Given the description of an element on the screen output the (x, y) to click on. 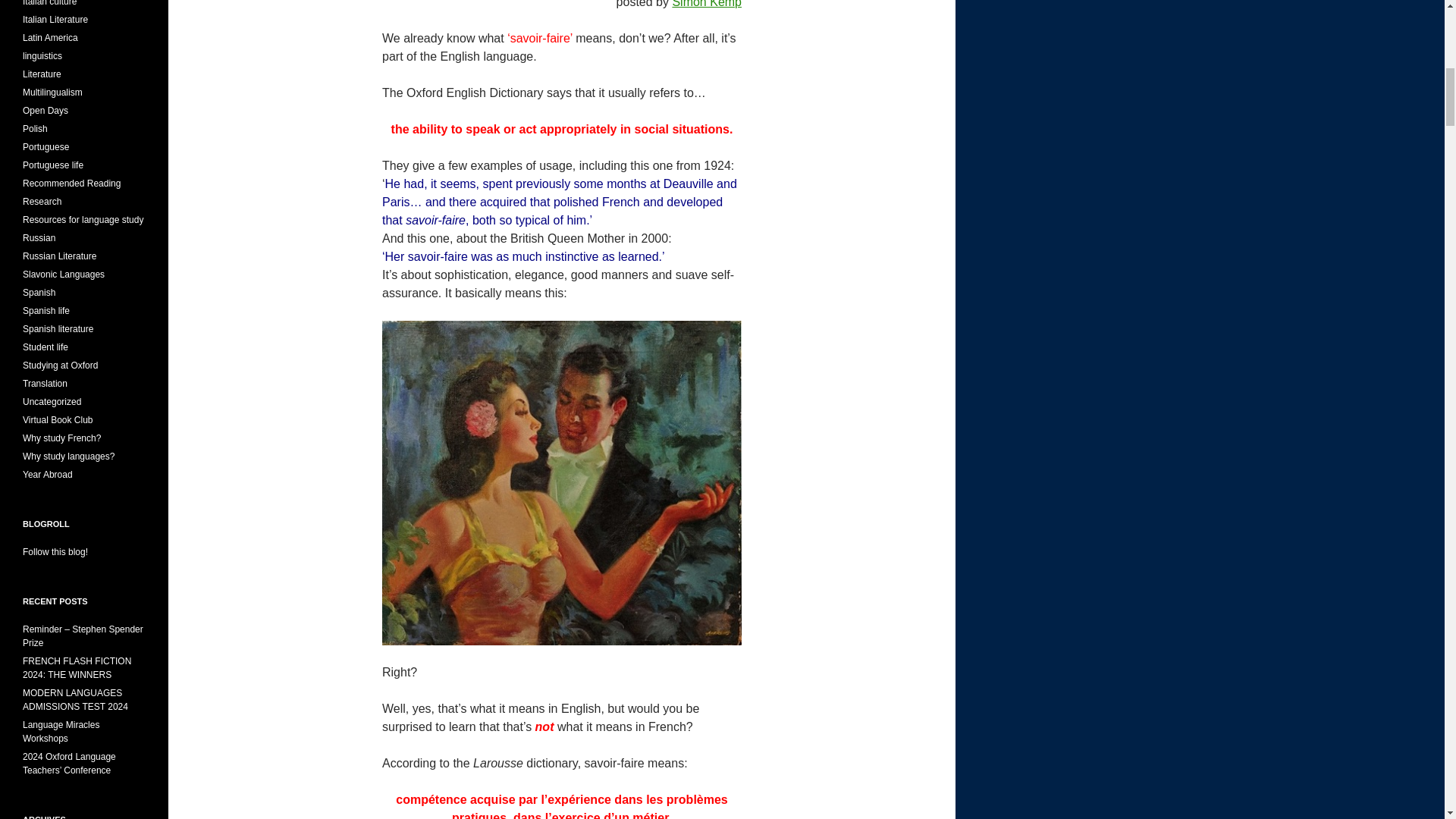
Simon Kemp (706, 4)
Receive an email alert for new posts on the blog  (55, 552)
